Given the description of an element on the screen output the (x, y) to click on. 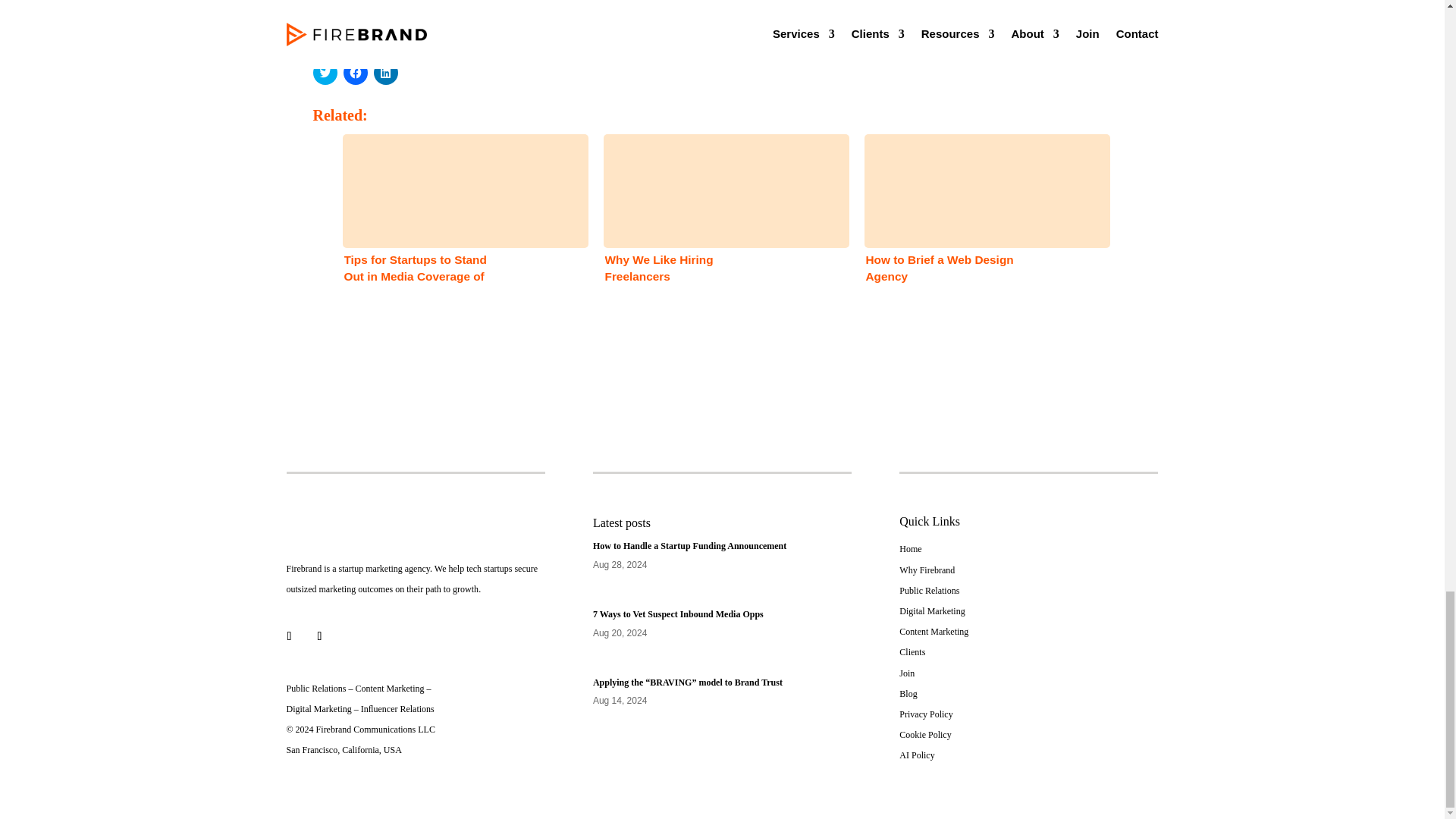
FB-SVG-11 (355, 522)
Click to share on LinkedIn (384, 72)
Why We Like Hiring Freelancers (721, 234)
Tips for Startups to Stand Out in Media Coverage of CES (460, 234)
Follow on LinkedIn (289, 636)
Follow on X (319, 636)
How to Brief a Web Design Agency (982, 234)
Click to share on Twitter (324, 72)
Click to share on Facebook (354, 72)
